Given the description of an element on the screen output the (x, y) to click on. 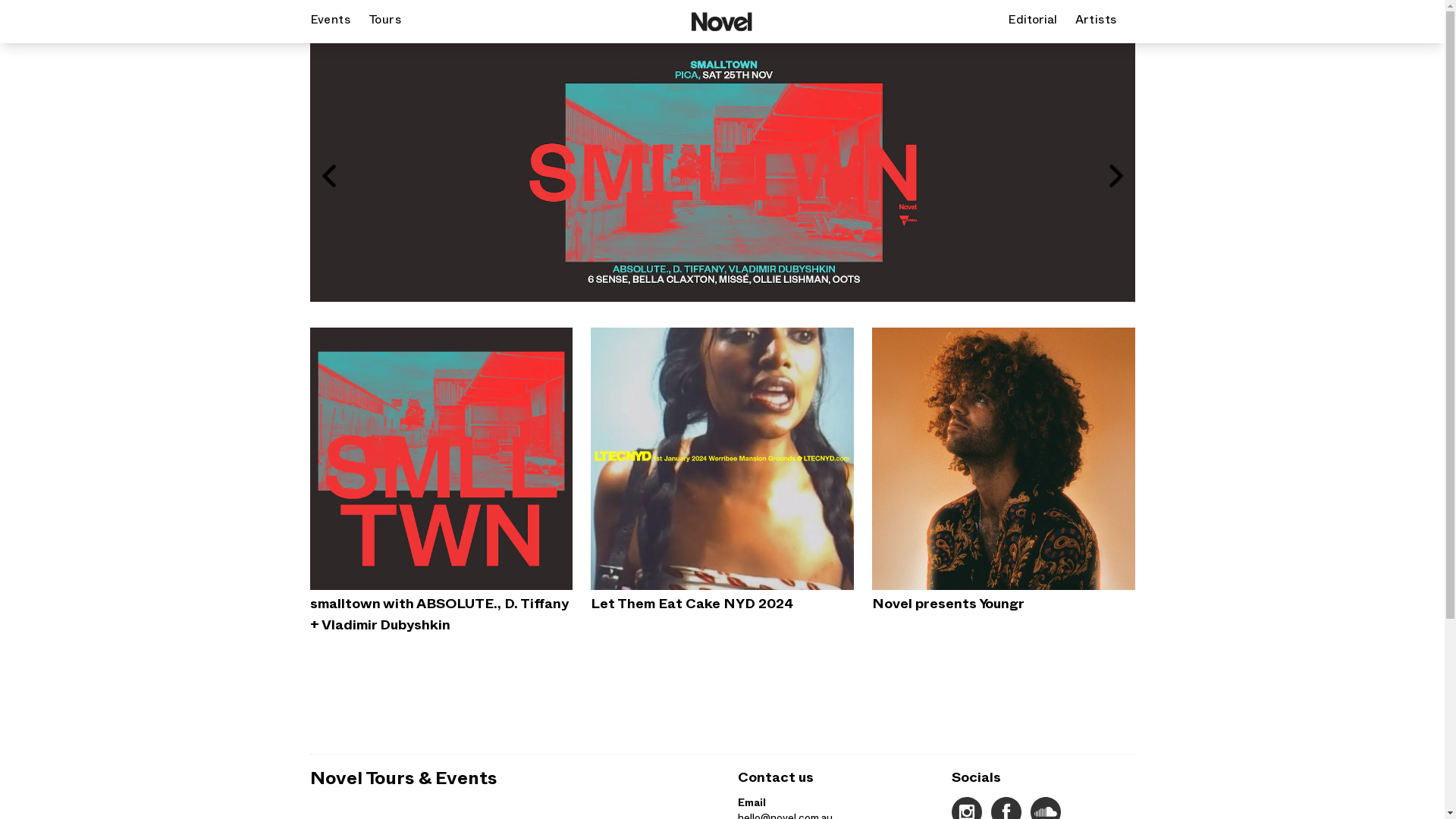
Artists Element type: text (1096, 21)
Novel Tours & Events Element type: text (402, 781)
Let Them Eat Cake NYD 2024 Element type: text (721, 472)
smalltown with ABSOLUTE., D. Tiffany + Vladimir Dubyshkin Element type: text (440, 483)
Tours Element type: text (384, 21)
Editorial Element type: text (1032, 21)
Events Element type: text (329, 21)
Novel presents Youngr Element type: text (1003, 472)
Novel Element type: hover (721, 21)
